Given the description of an element on the screen output the (x, y) to click on. 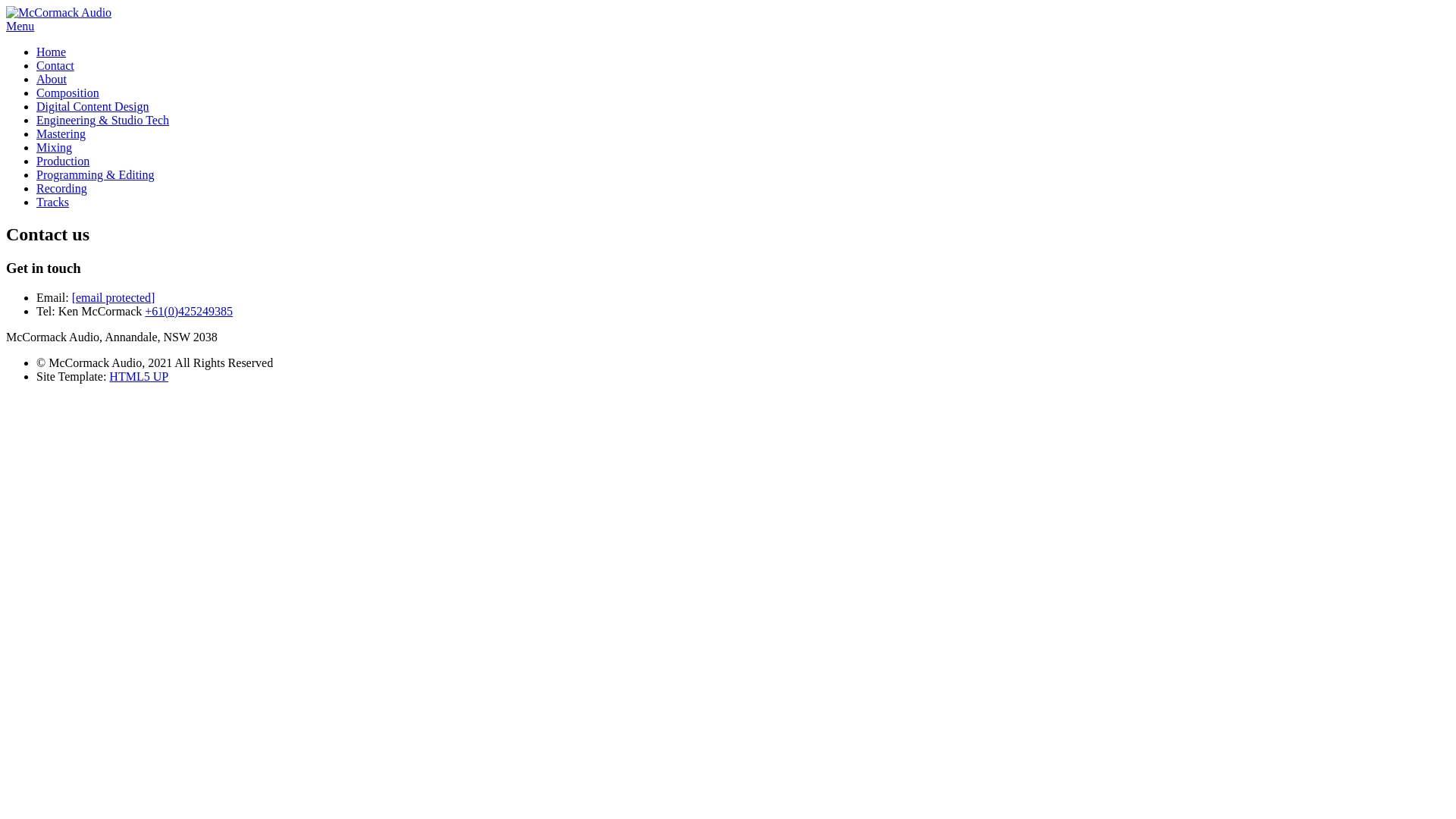
Engineering & Studio Tech Element type: text (102, 119)
Composition Element type: text (67, 92)
Home Element type: text (50, 51)
Menu Element type: text (20, 25)
+61(0)425249385 Element type: text (188, 310)
HTML5 UP Element type: text (138, 376)
Programming & Editing Element type: text (95, 174)
Tracks Element type: text (52, 201)
Production Element type: text (62, 160)
Recording Element type: text (61, 188)
Contact Element type: text (55, 65)
About Element type: text (51, 78)
[email protected] Element type: text (113, 297)
Mastering Element type: text (60, 133)
Digital Content Design Element type: text (92, 106)
Mixing Element type: text (54, 147)
